Given the description of an element on the screen output the (x, y) to click on. 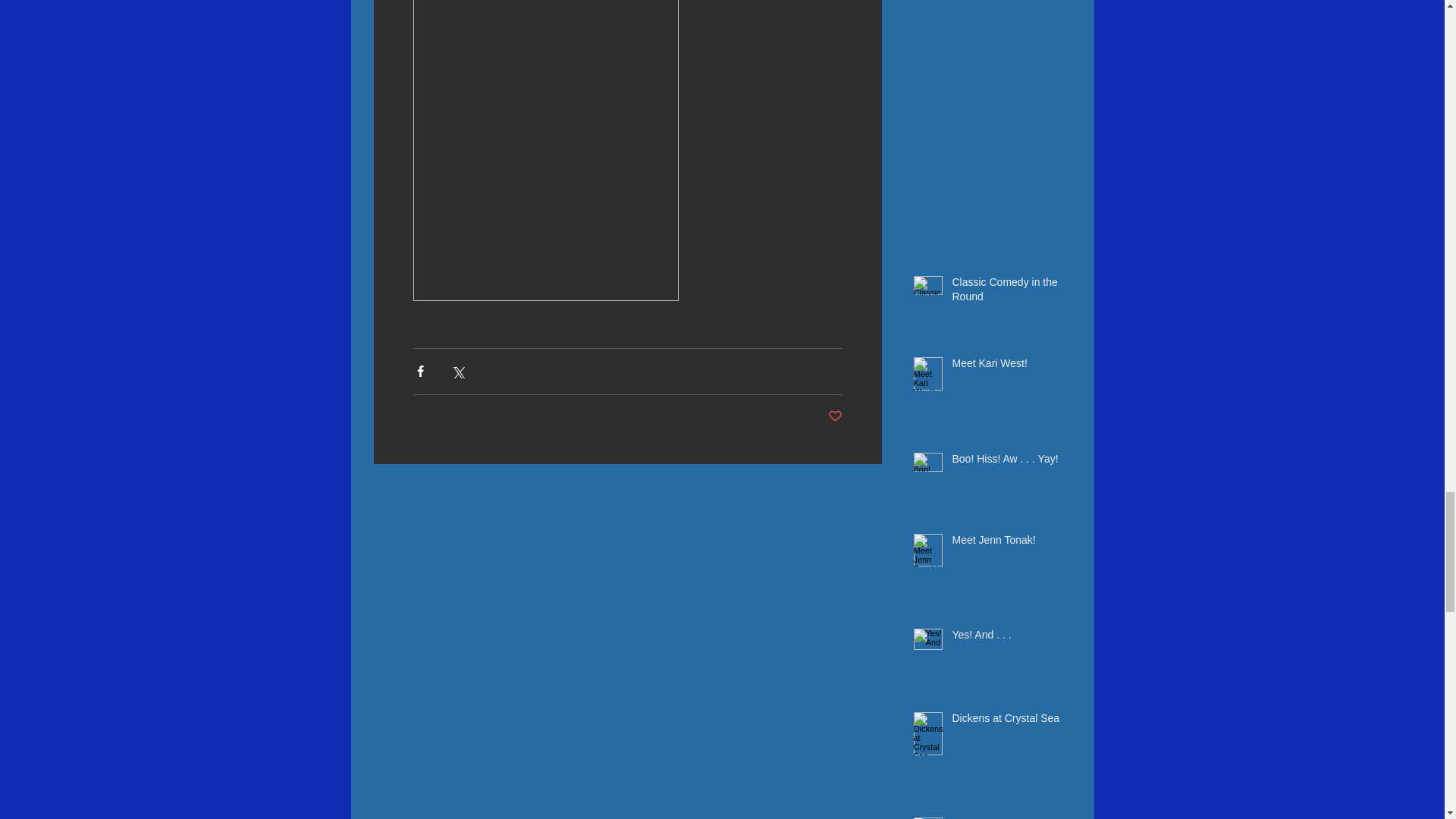
Make Art (1006, 817)
Post not marked as liked (835, 416)
Yes! And . . . (1006, 638)
Classic Comedy in the Round (1006, 293)
Meet Jenn Tonak! (1006, 543)
Boo! Hiss! Aw . . . Yay! (1006, 462)
Meet Kari West! (1006, 366)
Dickens at Crystal Sea (1006, 721)
